Given the description of an element on the screen output the (x, y) to click on. 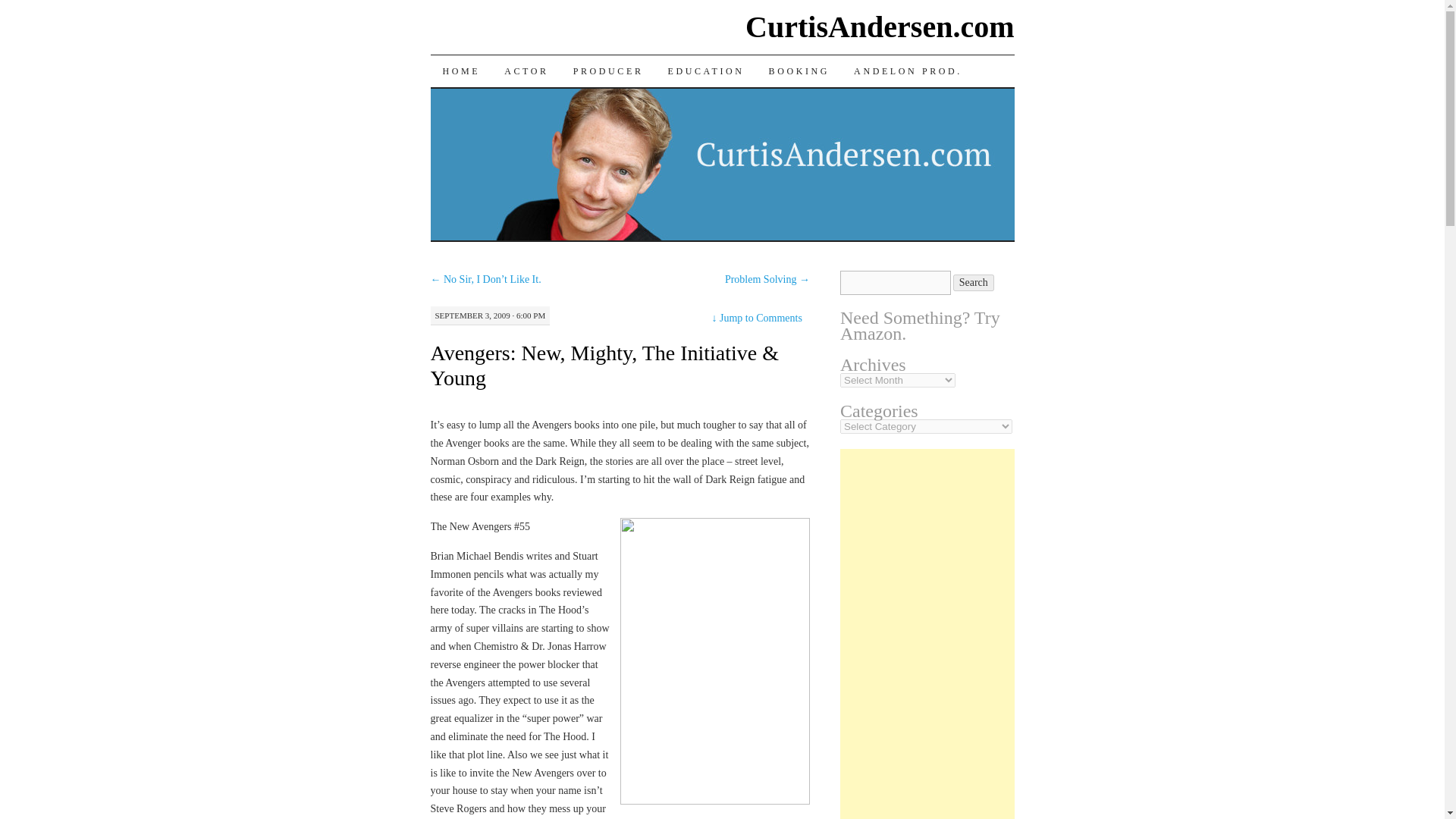
PRODUCER (608, 70)
ACTOR (526, 70)
HOME (461, 70)
EDUCATION (706, 70)
Search (973, 282)
BOOKING (800, 70)
Search (973, 282)
CurtisAndersen.com (879, 26)
ANDELON PROD. (907, 70)
CurtisAndersen.com (879, 26)
